Given the description of an element on the screen output the (x, y) to click on. 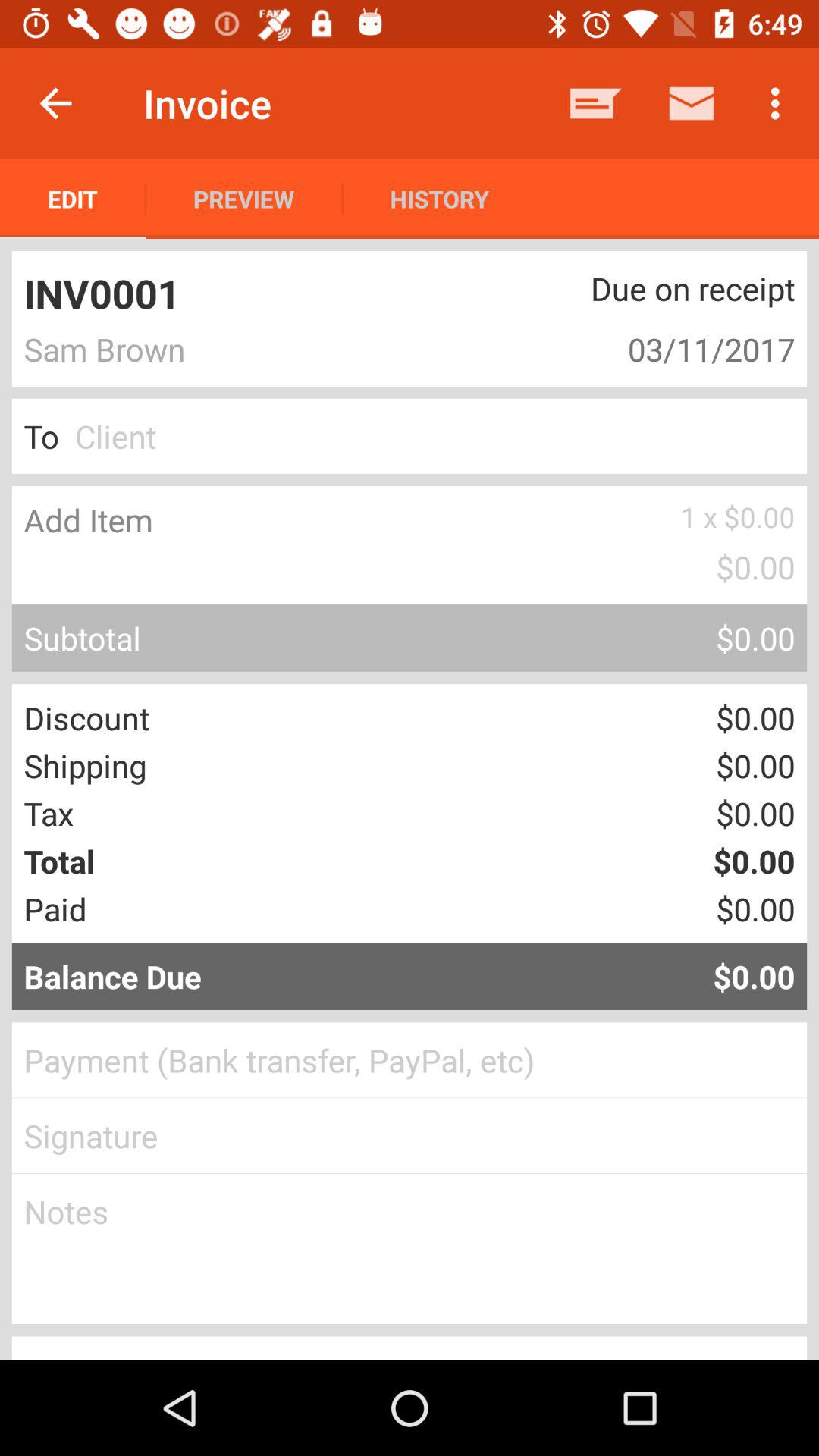
tap item to the right of history item (595, 103)
